Given the description of an element on the screen output the (x, y) to click on. 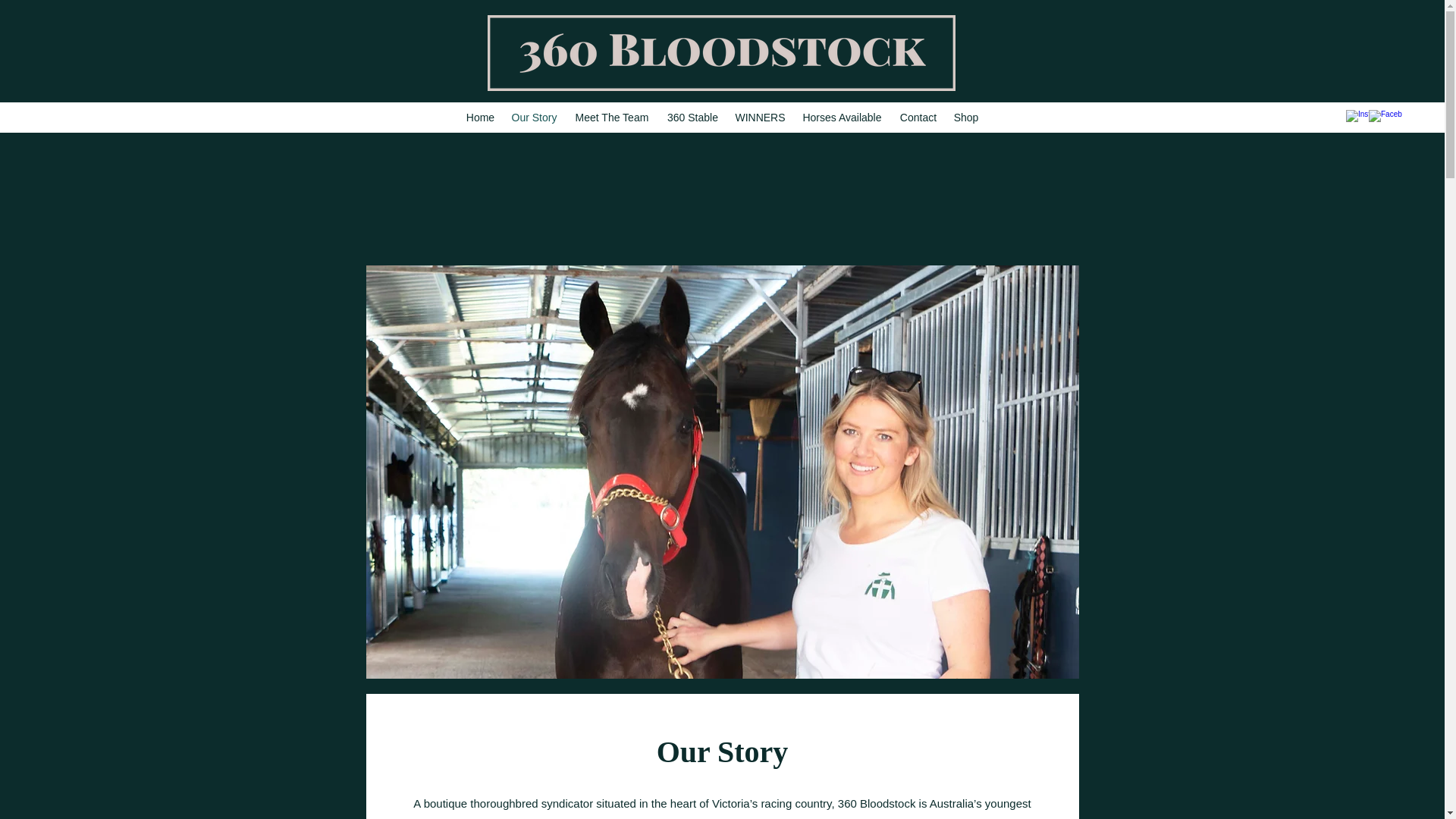
Horses Available (842, 117)
Contact (917, 117)
Our Story (534, 117)
Home (480, 117)
Meet The Team (612, 117)
360 Stable (692, 117)
Shop (965, 117)
WINNERS (759, 117)
